Given the description of an element on the screen output the (x, y) to click on. 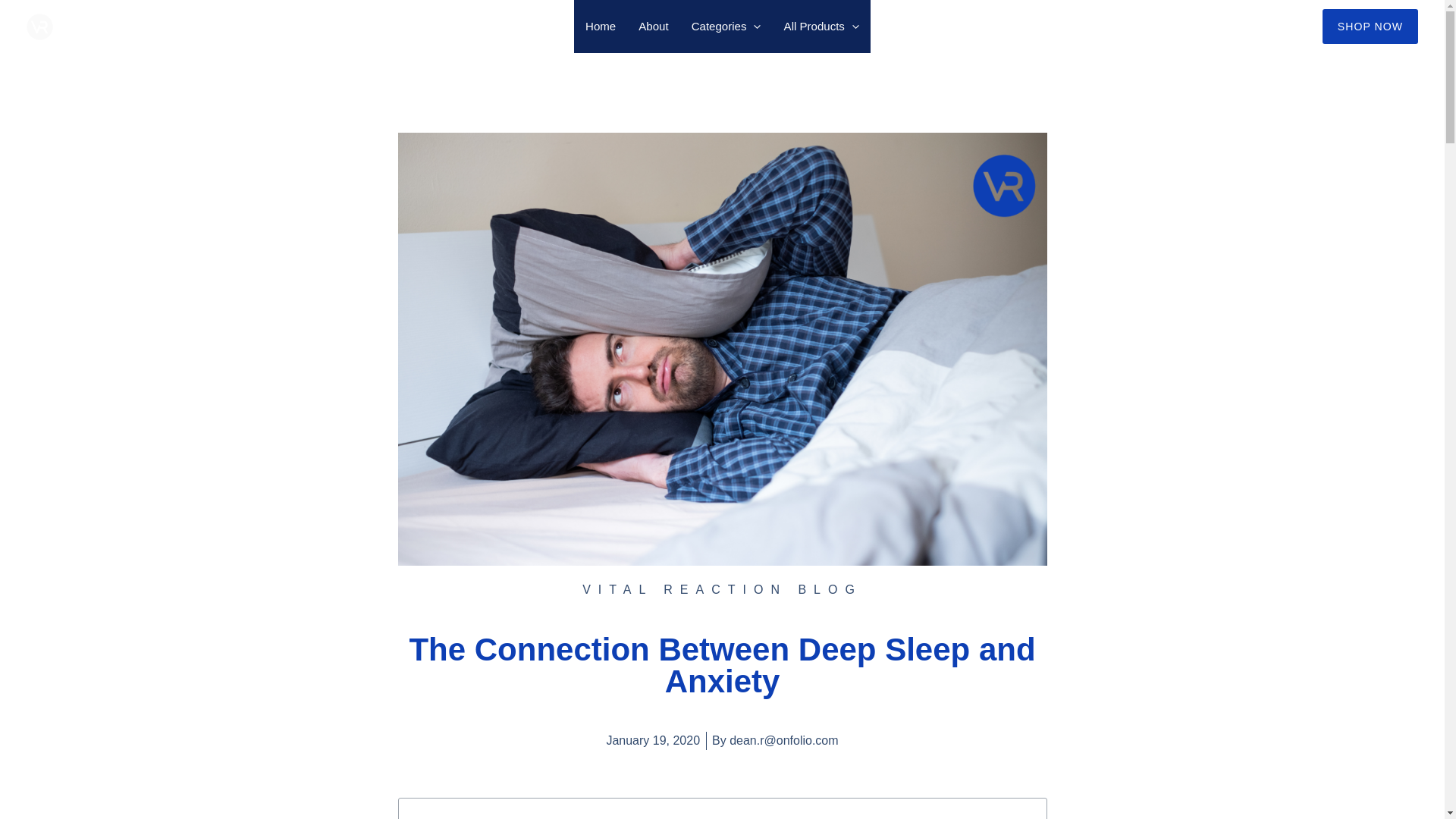
SHOP NOW (1370, 26)
Home (600, 26)
All Products (821, 26)
About (653, 26)
Categories (726, 26)
